Given the description of an element on the screen output the (x, y) to click on. 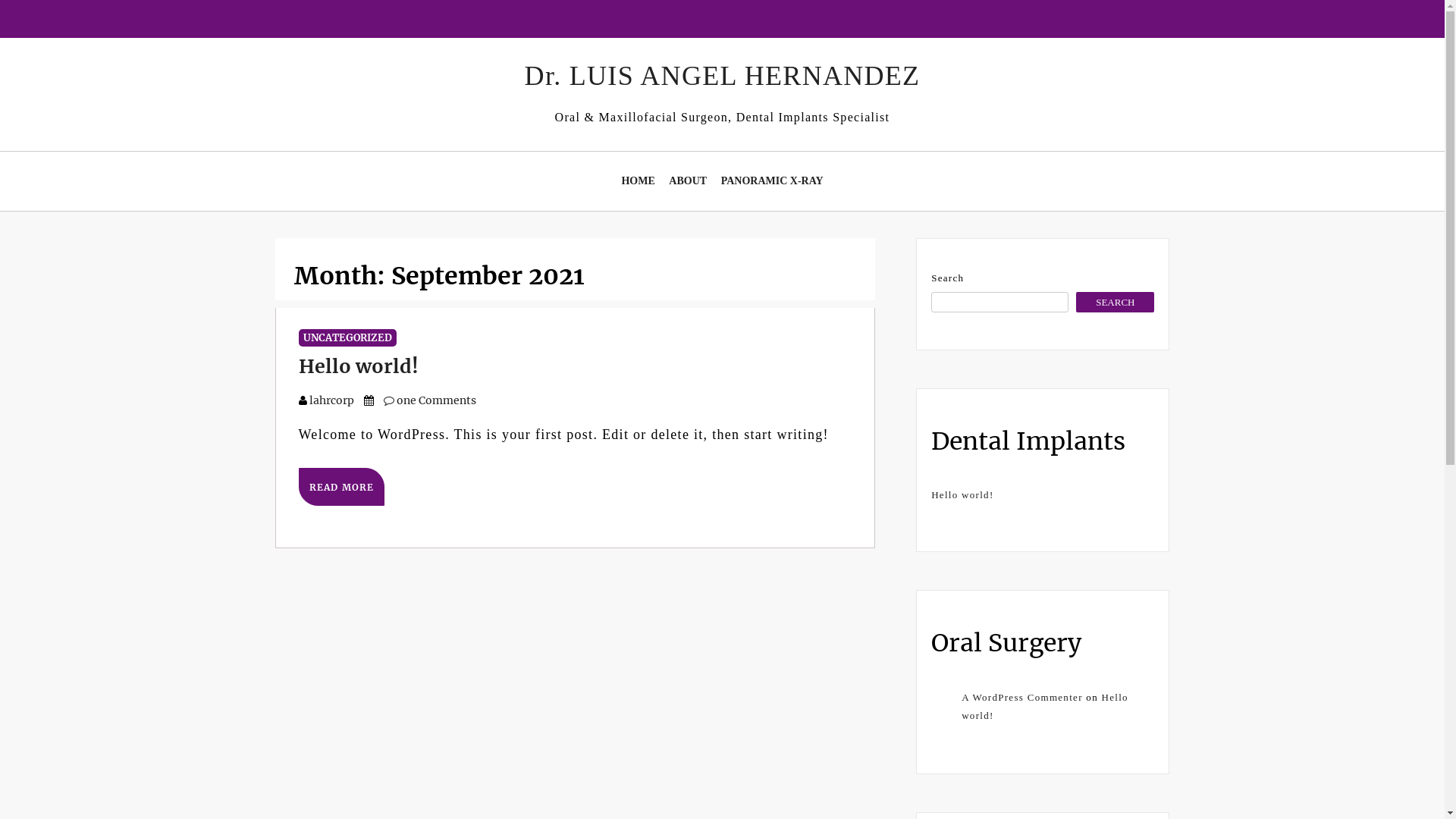
lahrcorp Element type: text (331, 400)
ABOUT Element type: text (687, 180)
Hello world! Element type: text (1044, 705)
Dr. LUIS ANGEL HERNANDEZ Element type: text (722, 75)
PANORAMIC X-RAY Element type: text (771, 180)
Hello world! Element type: text (962, 494)
READ MORE Element type: text (341, 486)
one Comments Element type: text (429, 400)
HOME Element type: text (637, 180)
A WordPress Commenter Element type: text (1021, 696)
Hello world! Element type: text (358, 366)
SEARCH Element type: text (1115, 302)
UNCATEGORIZED Element type: text (347, 337)
